Given the description of an element on the screen output the (x, y) to click on. 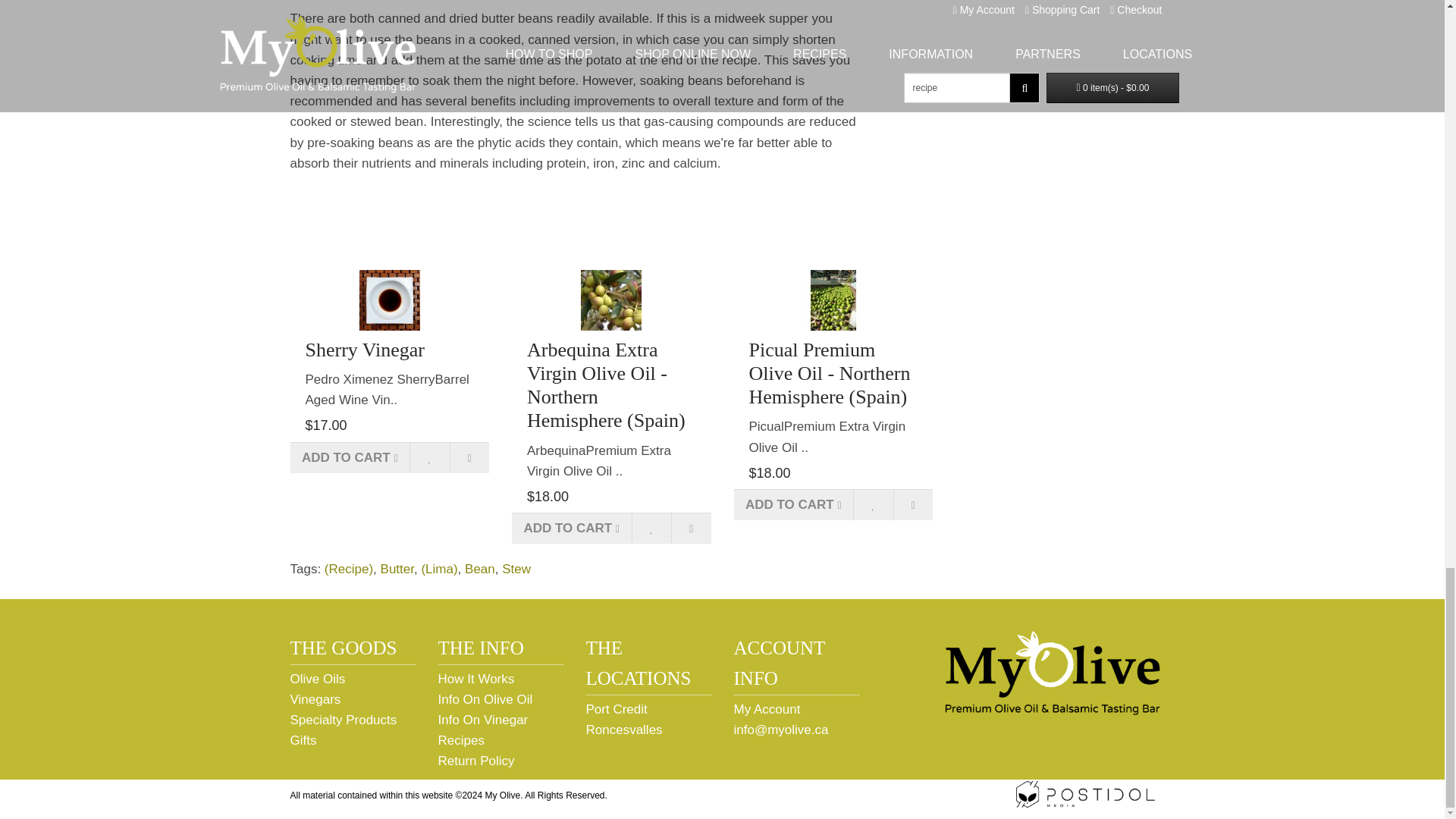
Sherry Vinegar (389, 300)
